Given the description of an element on the screen output the (x, y) to click on. 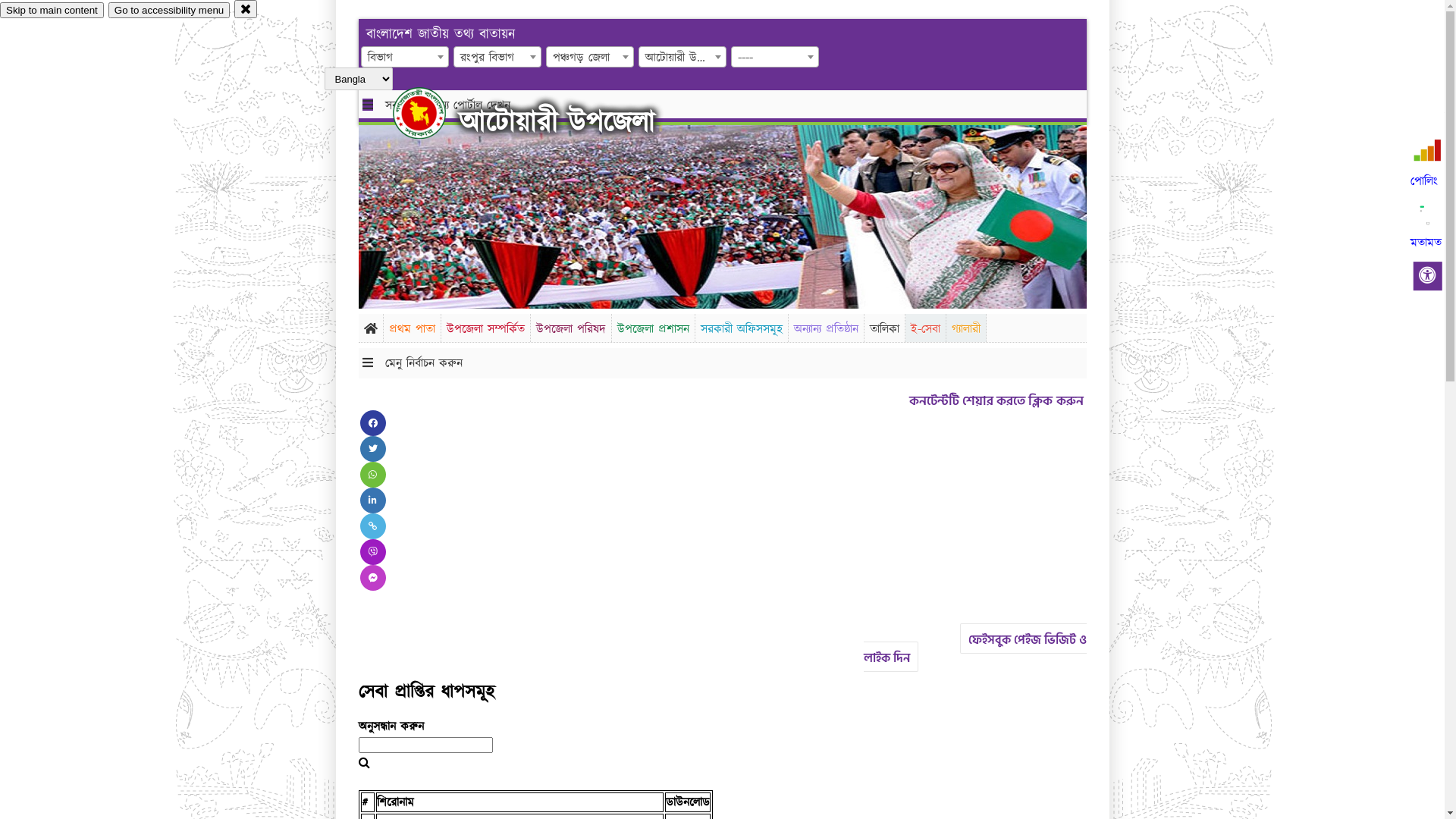

                
             Element type: hover (431, 112)
close Element type: hover (245, 9)
Skip to main content Element type: text (51, 10)
Go to accessibility menu Element type: text (168, 10)
